Given the description of an element on the screen output the (x, y) to click on. 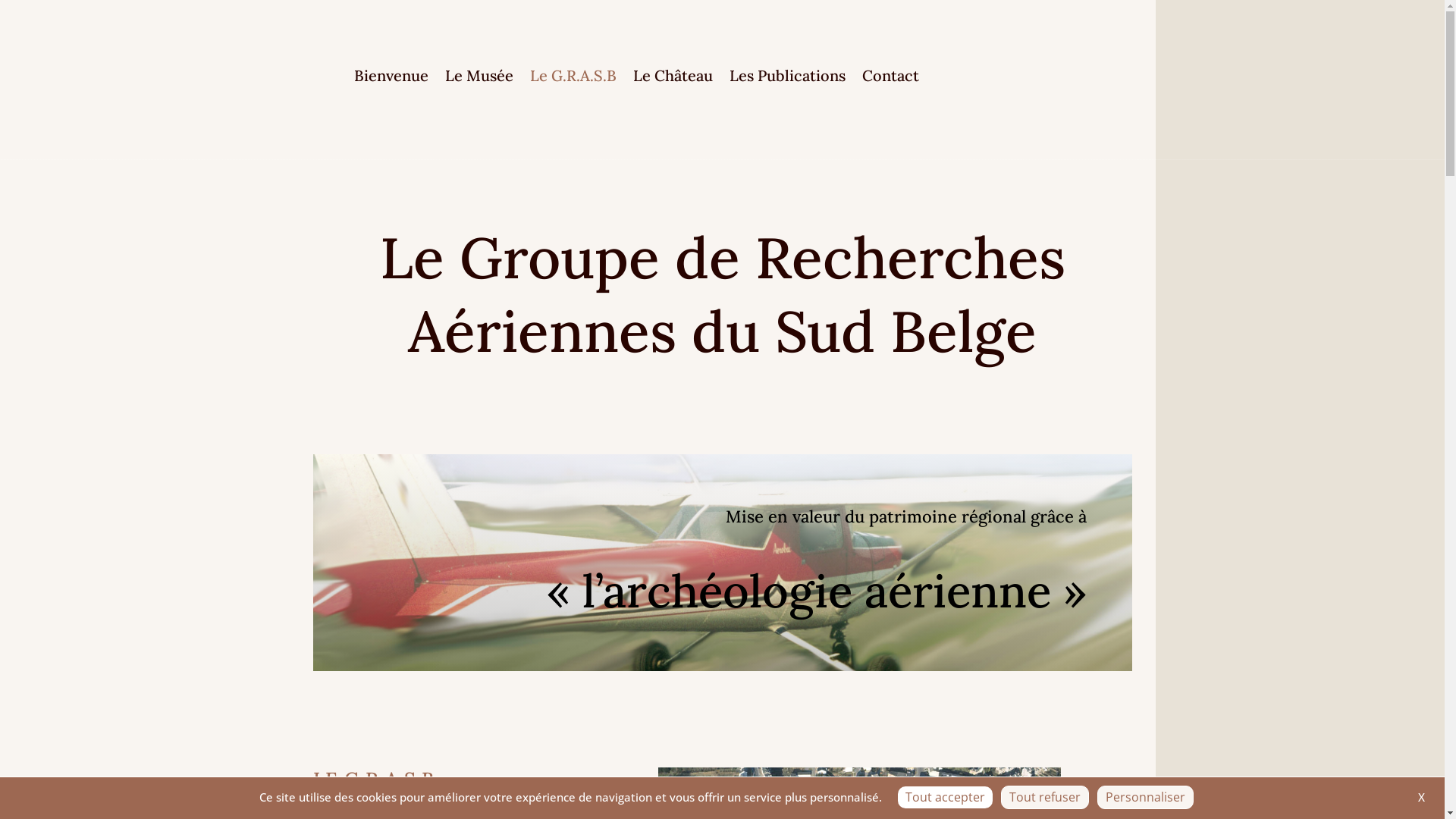
Bienvenue Element type: text (390, 78)
Personnaliser Element type: text (1144, 797)
Les Publications Element type: text (787, 78)
Contact Element type: text (889, 78)
Le G.R.A.S.B Element type: text (572, 78)
Tout accepter Element type: text (944, 797)
Tout refuser Element type: text (1044, 797)
